Given the description of an element on the screen output the (x, y) to click on. 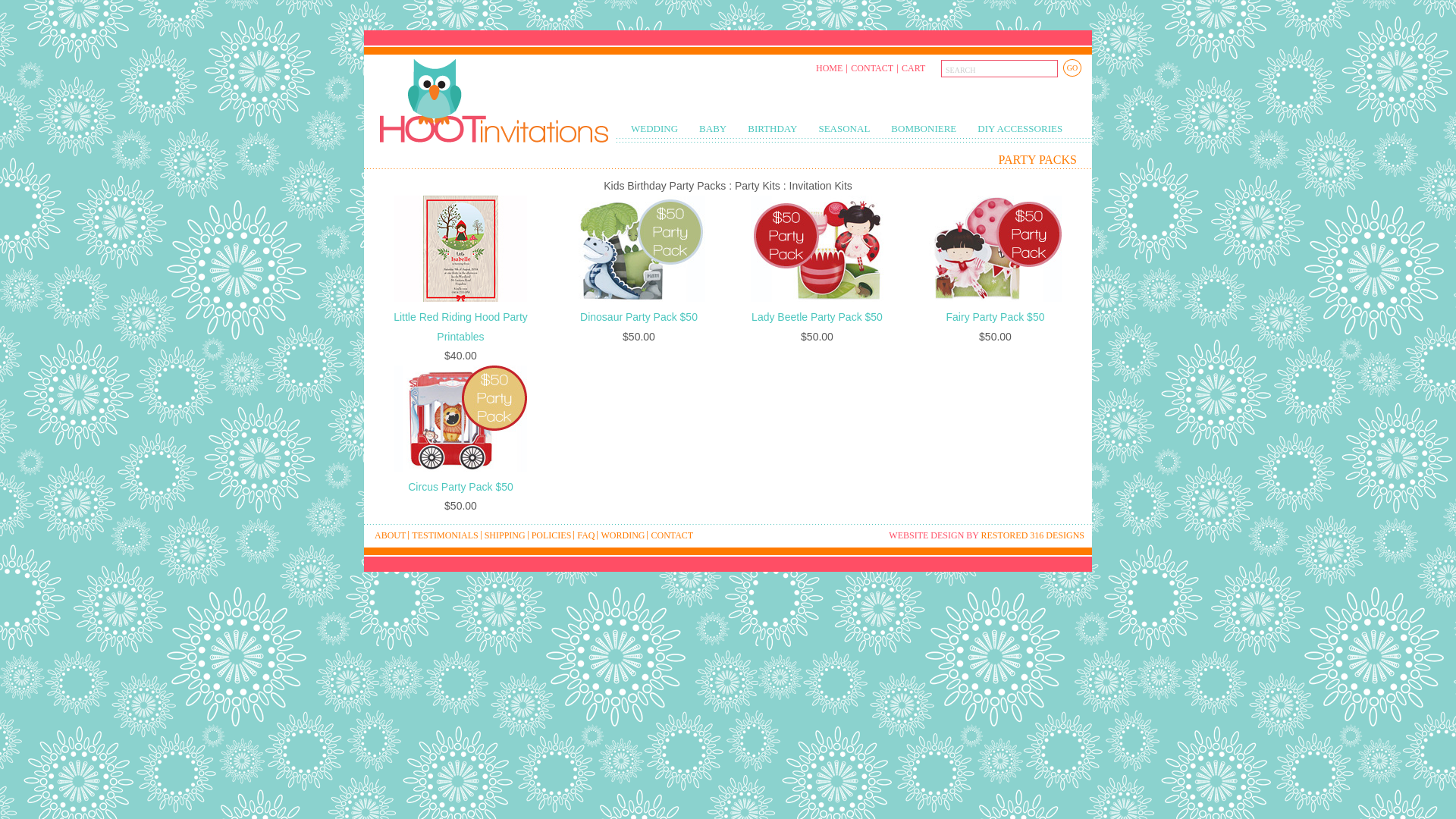
BOMBONIERE Element type: text (923, 128)
ABOUT Element type: text (389, 534)
Dinosaur Party Pack $50 Element type: text (638, 316)
BIRTHDAY Element type: text (772, 128)
WEDDING Element type: text (654, 128)
WORDING Element type: text (622, 534)
CART Element type: text (913, 67)
POLICIES Element type: text (551, 534)
CONTACT Element type: text (671, 534)
Go Element type: text (1072, 67)
BABY Element type: text (712, 128)
DIY ACCESSORIES Element type: text (1019, 128)
SEASONAL Element type: text (843, 128)
Circus Party Pack $50 Element type: text (460, 486)
CONTACT Element type: text (871, 67)
Lady Beetle Party Pack $50 Element type: text (816, 316)
SHIPPING Element type: text (504, 534)
Little Red Riding Hood Party Printables Element type: text (460, 326)
Search Element type: text (999, 68)
FAQ Element type: text (585, 534)
Hoot Invitations Element type: text (490, 98)
HOME Element type: text (828, 67)
Fairy Party Pack $50 Element type: text (995, 316)
TESTIMONIALS Element type: text (444, 534)
RESTORED 316 DESIGNS Element type: text (1032, 534)
